Given the description of an element on the screen output the (x, y) to click on. 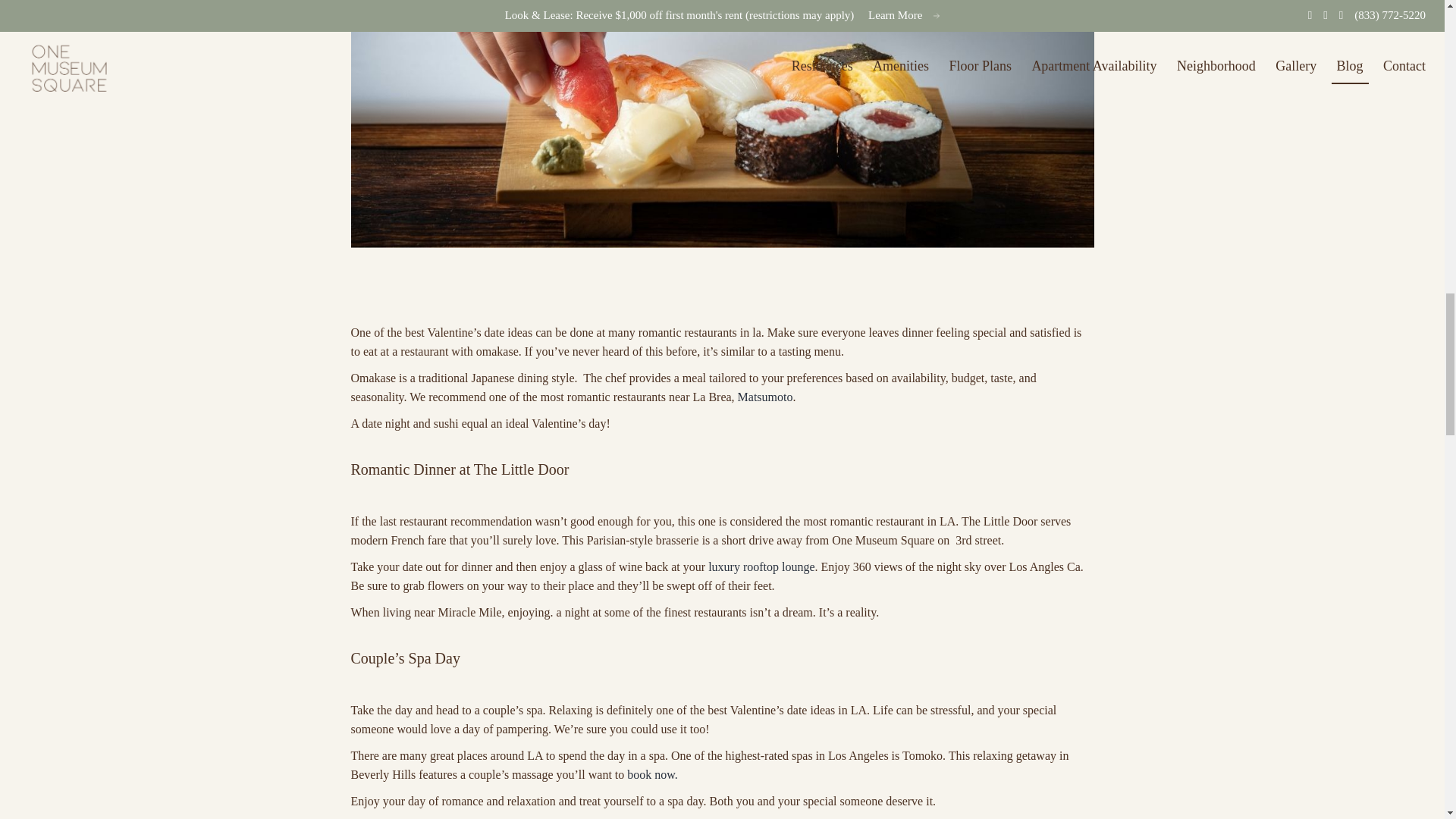
Matsumoto (765, 396)
luxury rooftop lounge (760, 566)
book now. (652, 774)
